Given the description of an element on the screen output the (x, y) to click on. 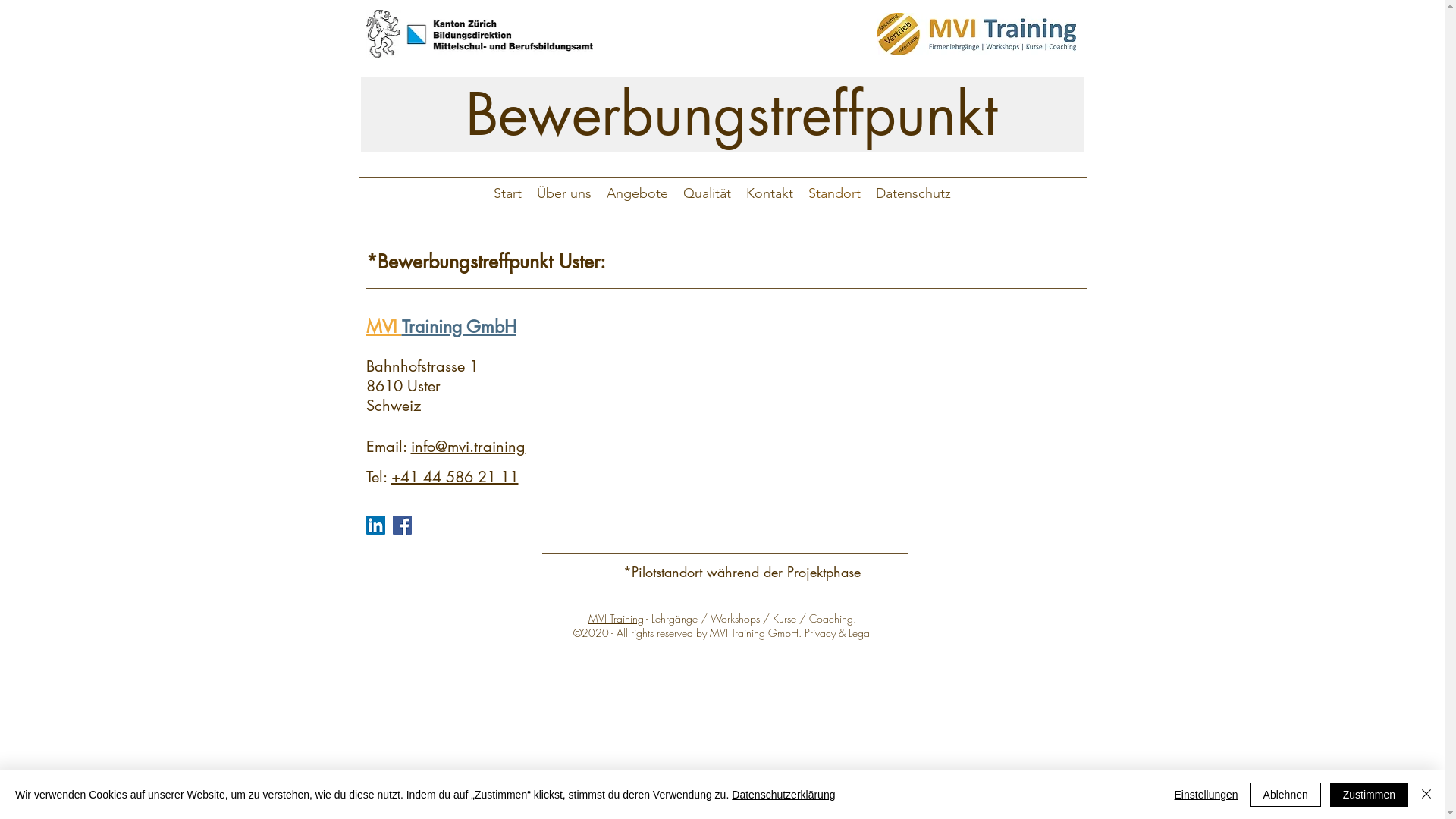
Start Element type: text (507, 193)
MVI Training Element type: text (615, 618)
Link zu MVI Training Element type: hover (976, 33)
Angebote Element type: text (637, 193)
Zustimmen Element type: text (1369, 794)
Kontakt Element type: text (769, 193)
Datenschutz Element type: text (913, 193)
Standort Element type: text (834, 193)
MVI Training GmbH Element type: text (440, 326)
+41 44 586 21 11 Element type: text (454, 476)
Google Maps Element type: hover (845, 410)
      Bewerbungstreffpunkt      Element type: text (722, 113)
Ablehnen Element type: text (1285, 794)
info@mvi.training Element type: text (468, 446)
